Given the description of an element on the screen output the (x, y) to click on. 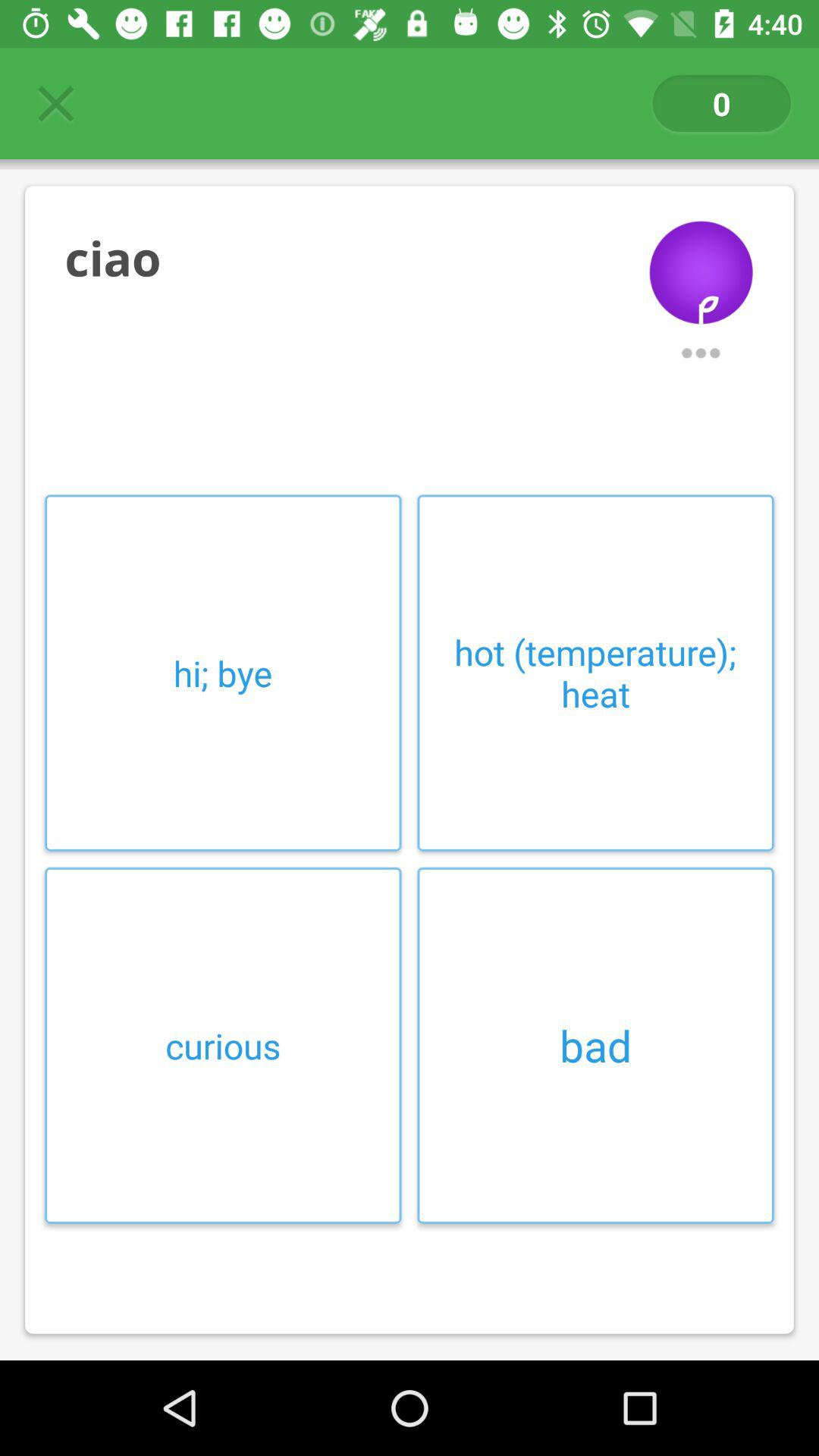
click the icon to the right of the hi; bye item (595, 672)
